Given the description of an element on the screen output the (x, y) to click on. 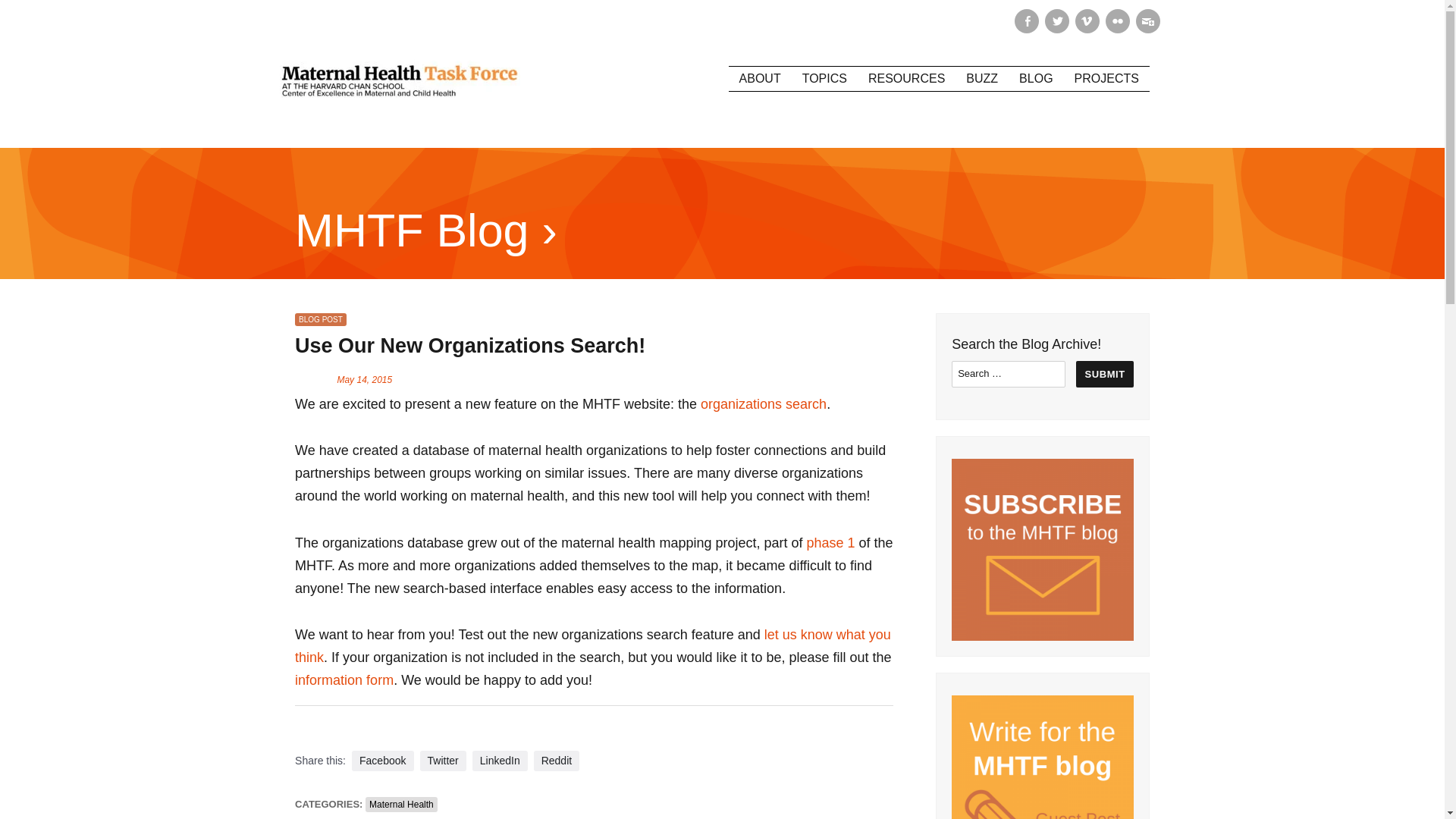
LinkedIn (499, 761)
RESOURCES (906, 78)
BLOG (1035, 78)
Vimeo (1087, 21)
Maternal Health (401, 804)
Twitter (442, 761)
Reddit (556, 761)
BUZZ (982, 78)
PROJECTS (1107, 78)
TOPICS (824, 78)
Facebook (382, 761)
Twitter (1056, 21)
May 14, 2015 (363, 379)
Submit (1104, 374)
Submit (1104, 374)
